Given the description of an element on the screen output the (x, y) to click on. 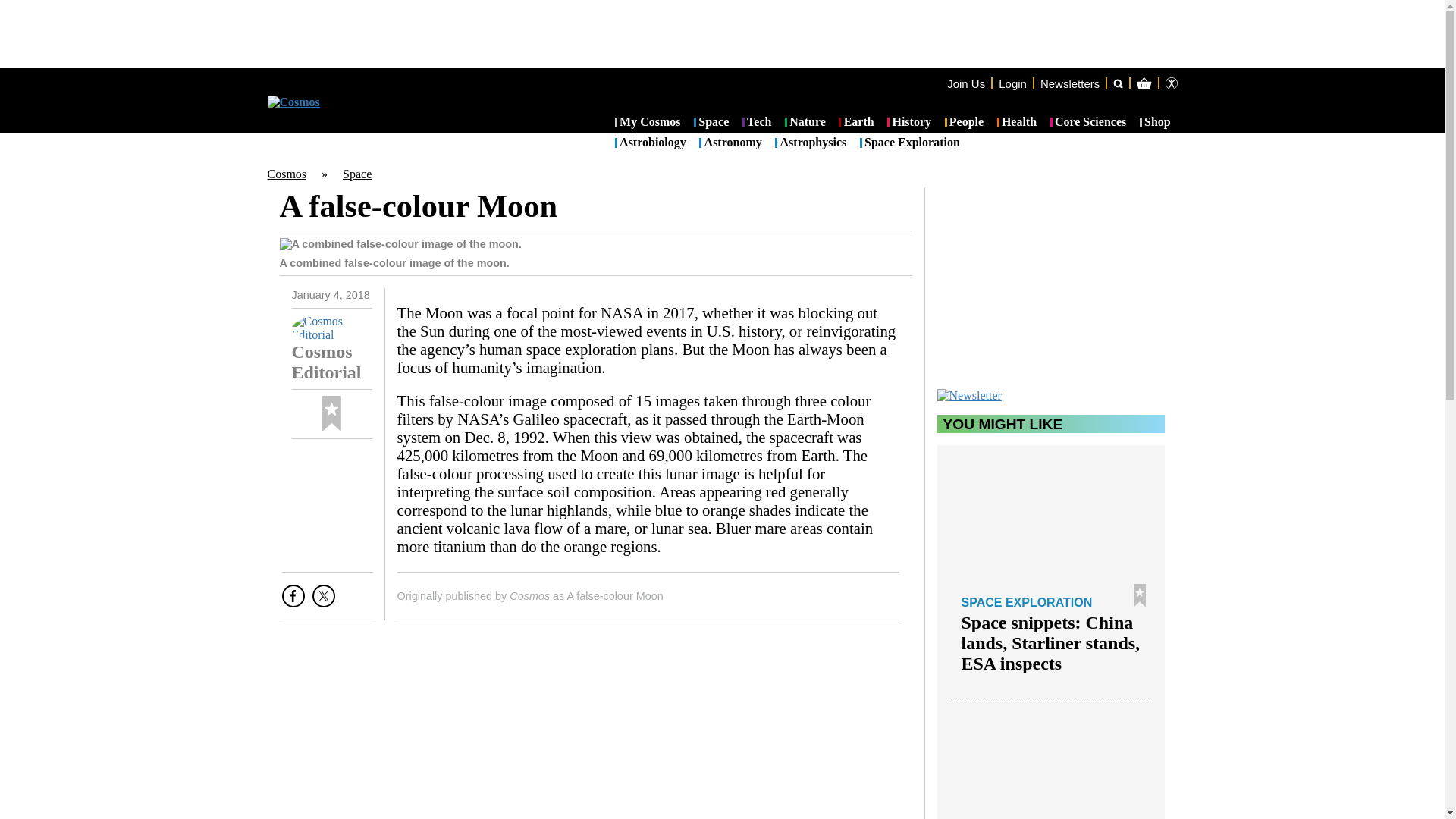
Tech (756, 122)
Share on Facebook (293, 601)
Login (1012, 82)
Join Us (966, 82)
Core Sciences (1087, 122)
Cosmos (285, 173)
Accessibility Tools (1170, 82)
Astrophysics (809, 143)
Nature (804, 122)
Astronomy (729, 143)
Earth (855, 122)
My Cosmos (647, 122)
Space (356, 173)
Cosmos (529, 595)
Cart (1223, 144)
